Given the description of an element on the screen output the (x, y) to click on. 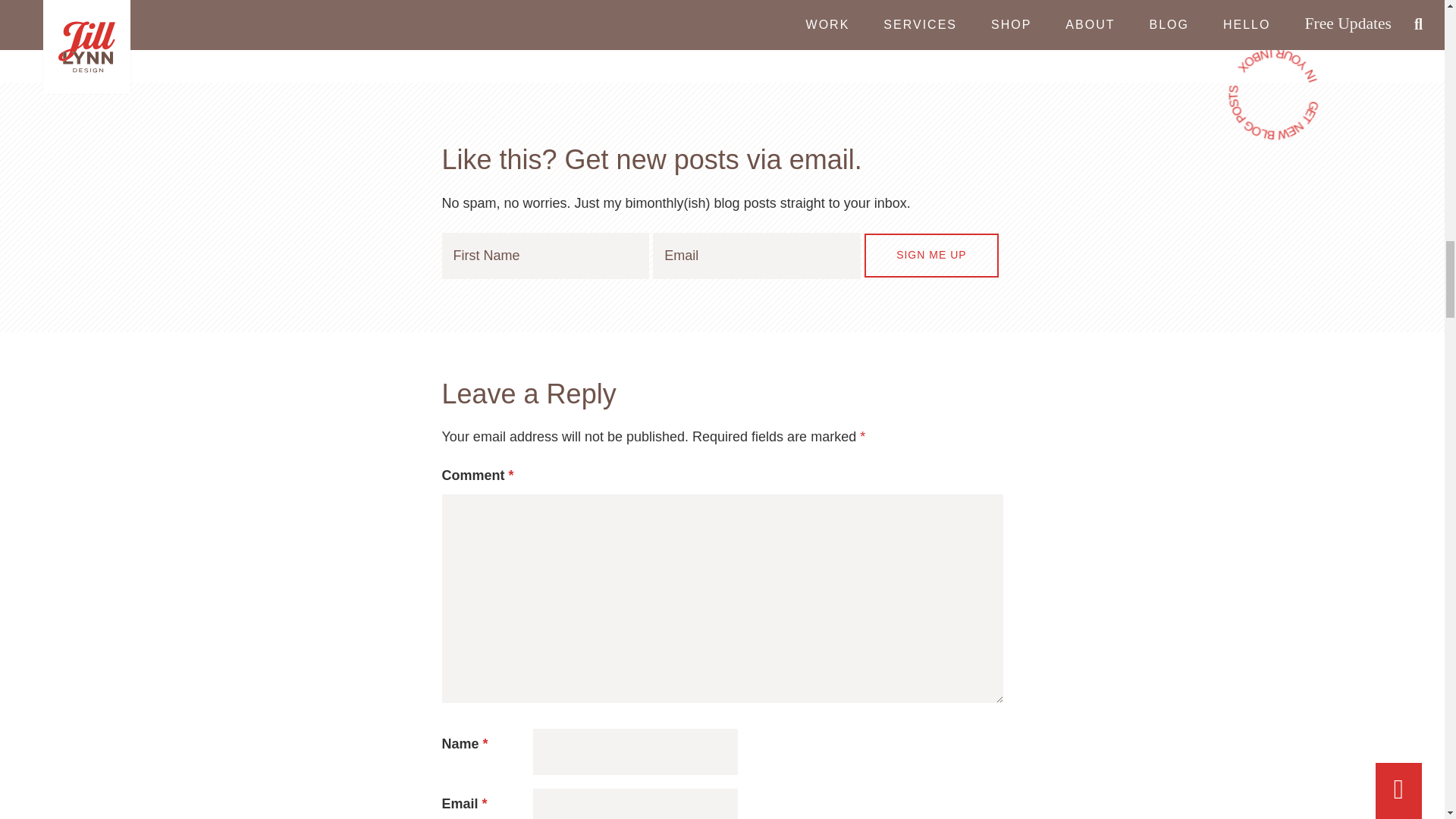
Sign me up (1272, 93)
logo (930, 255)
Sign me up (497, 38)
